Given the description of an element on the screen output the (x, y) to click on. 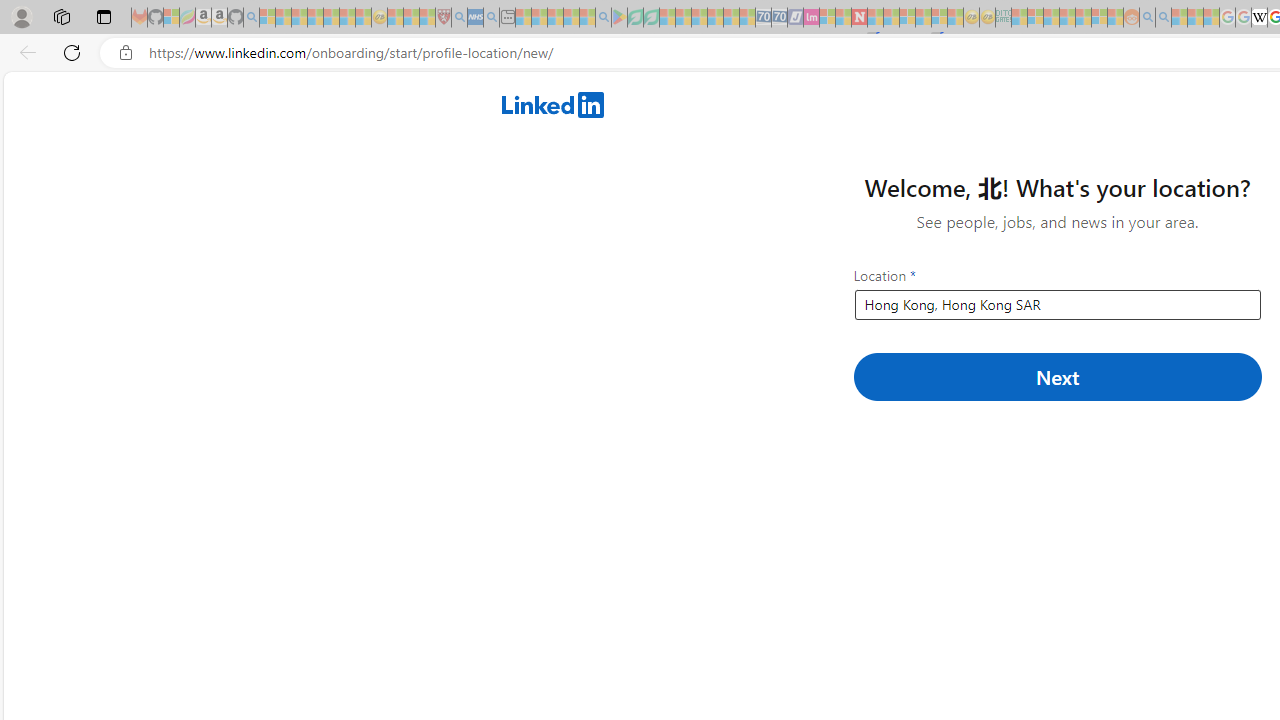
Expert Portfolios - Sleeping (1067, 17)
New Report Confirms 2023 Was Record Hot | Watch - Sleeping (331, 17)
utah sues federal government - Search - Sleeping (491, 17)
google - Search - Sleeping (603, 17)
DITOGAMES AG Imprint - Sleeping (1003, 17)
Bluey: Let's Play! - Apps on Google Play - Sleeping (619, 17)
